Given the description of an element on the screen output the (x, y) to click on. 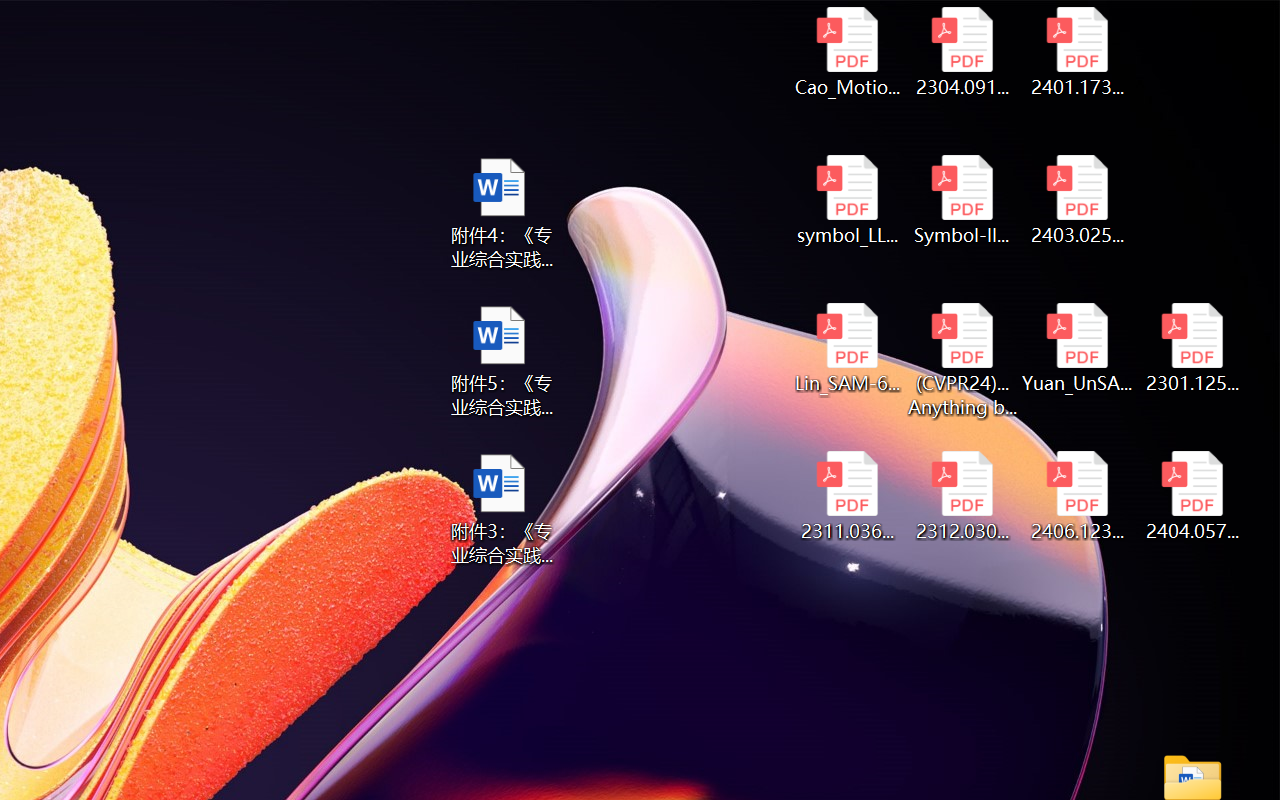
2301.12597v3.pdf (1192, 348)
